Given the description of an element on the screen output the (x, y) to click on. 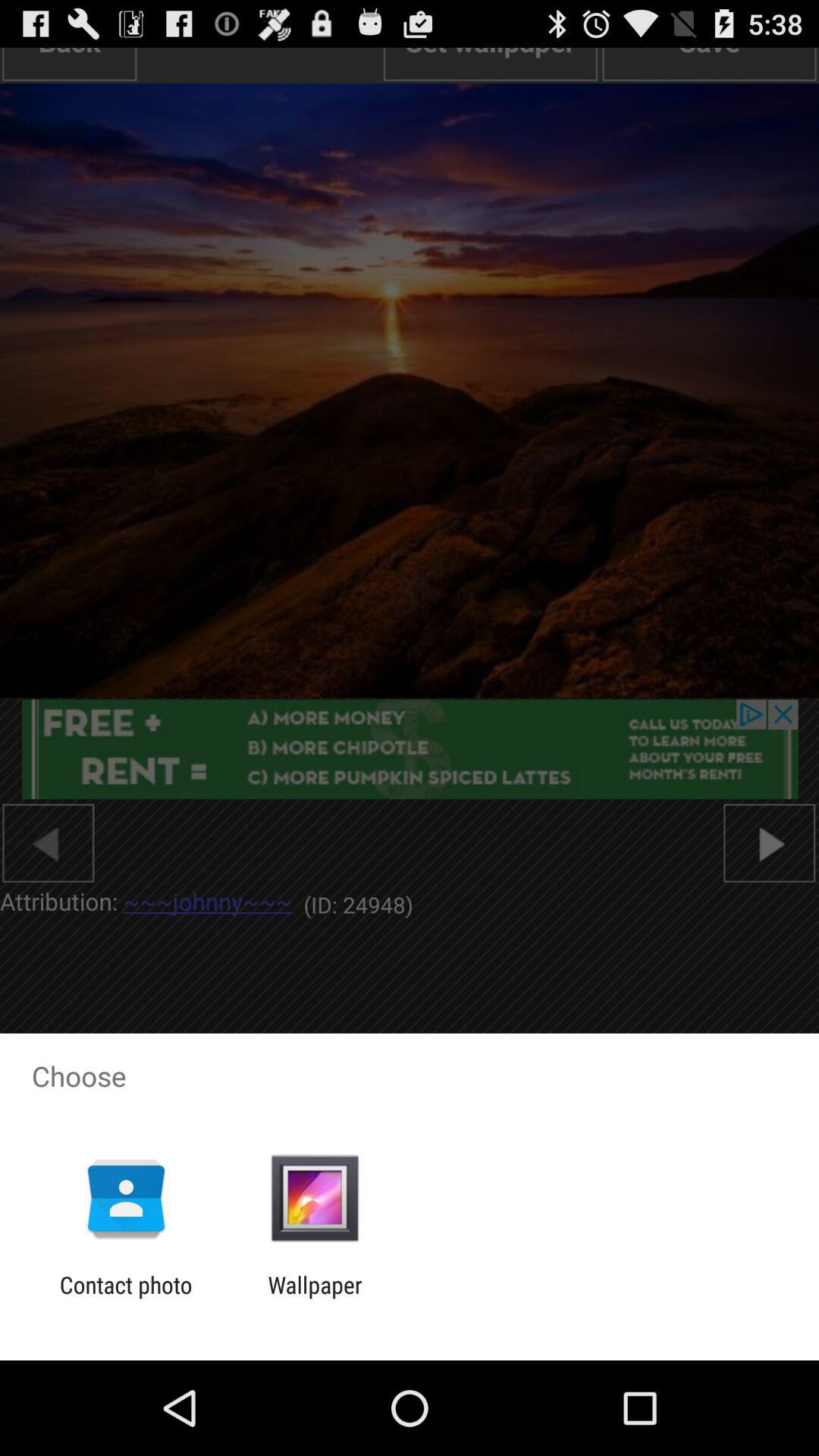
launch the item next to wallpaper icon (125, 1298)
